Given the description of an element on the screen output the (x, y) to click on. 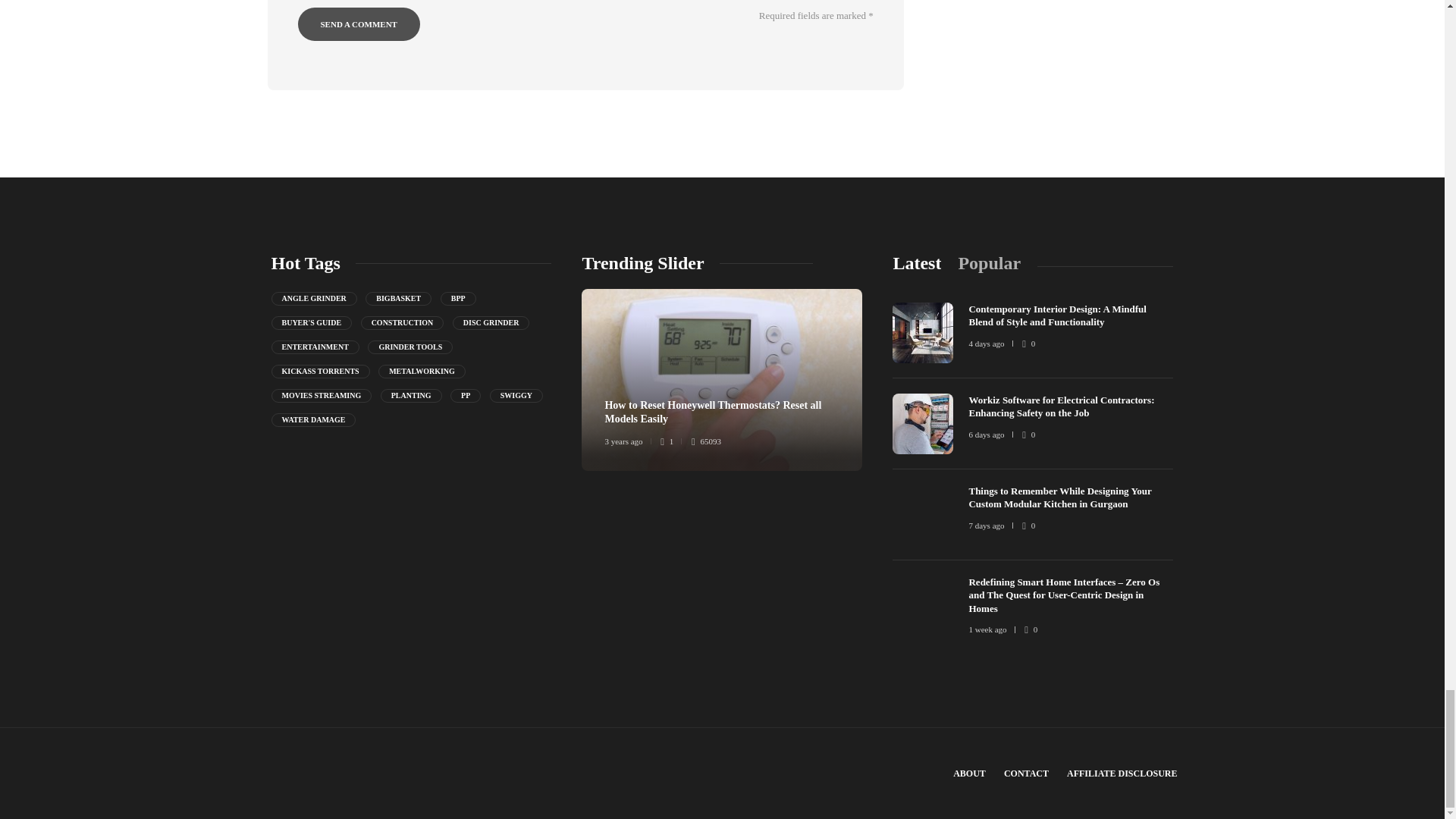
Send a comment (358, 23)
